Given the description of an element on the screen output the (x, y) to click on. 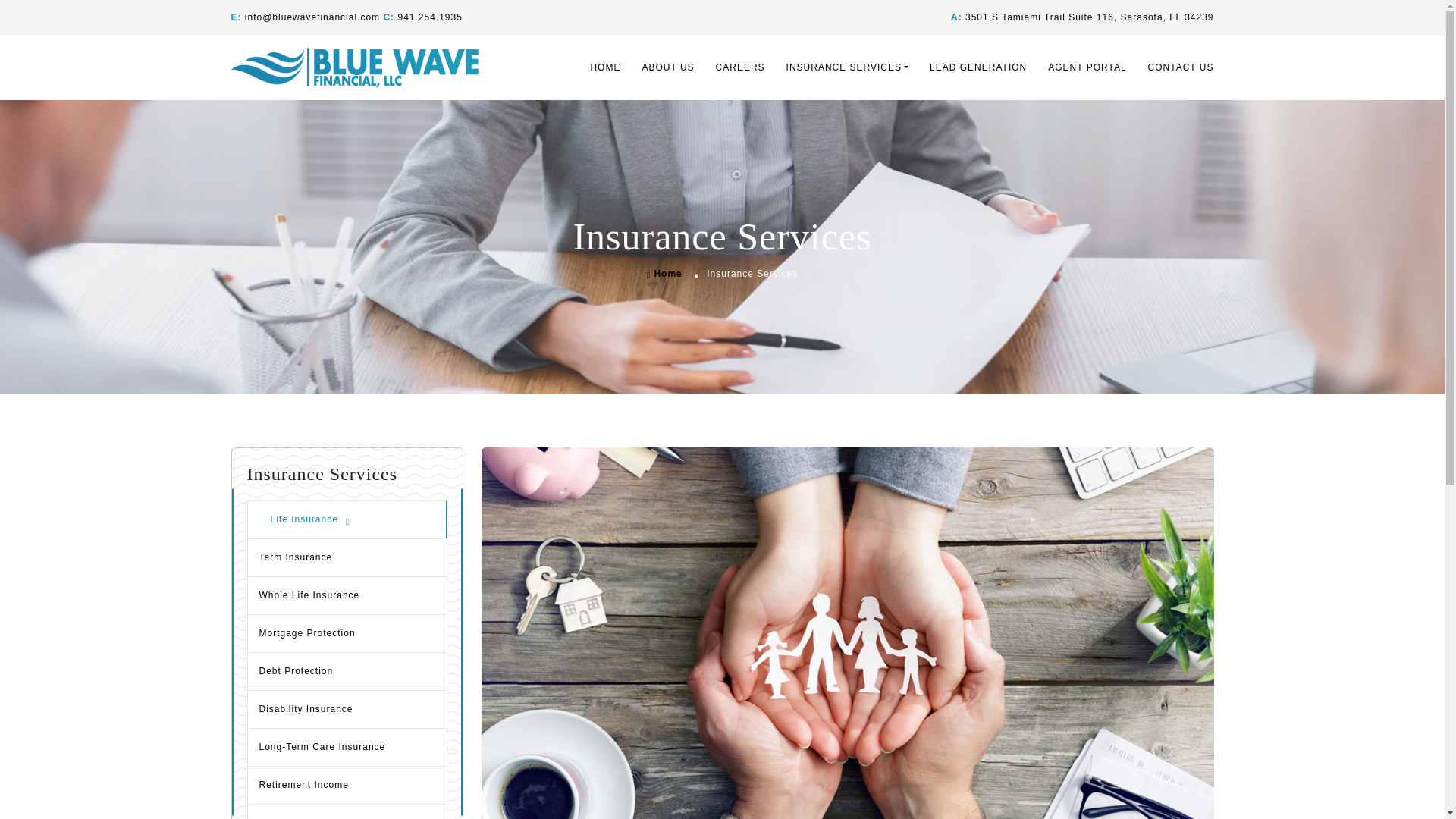
Term Insurance (346, 557)
CAREERS (740, 67)
C: 941.254.1935 (421, 17)
Final Expense Insurance (346, 811)
CONTACT US (1175, 67)
Life Insurance (346, 519)
Retirement Income (346, 784)
Whole Life Insurance (346, 595)
Long-Term Care Insurance (346, 746)
ABOUT US (667, 67)
AGENT PORTAL (1086, 67)
LEAD GENERATION (977, 67)
Debt Protection (346, 670)
Disability Insurance (346, 709)
Home (664, 273)
